Given the description of an element on the screen output the (x, y) to click on. 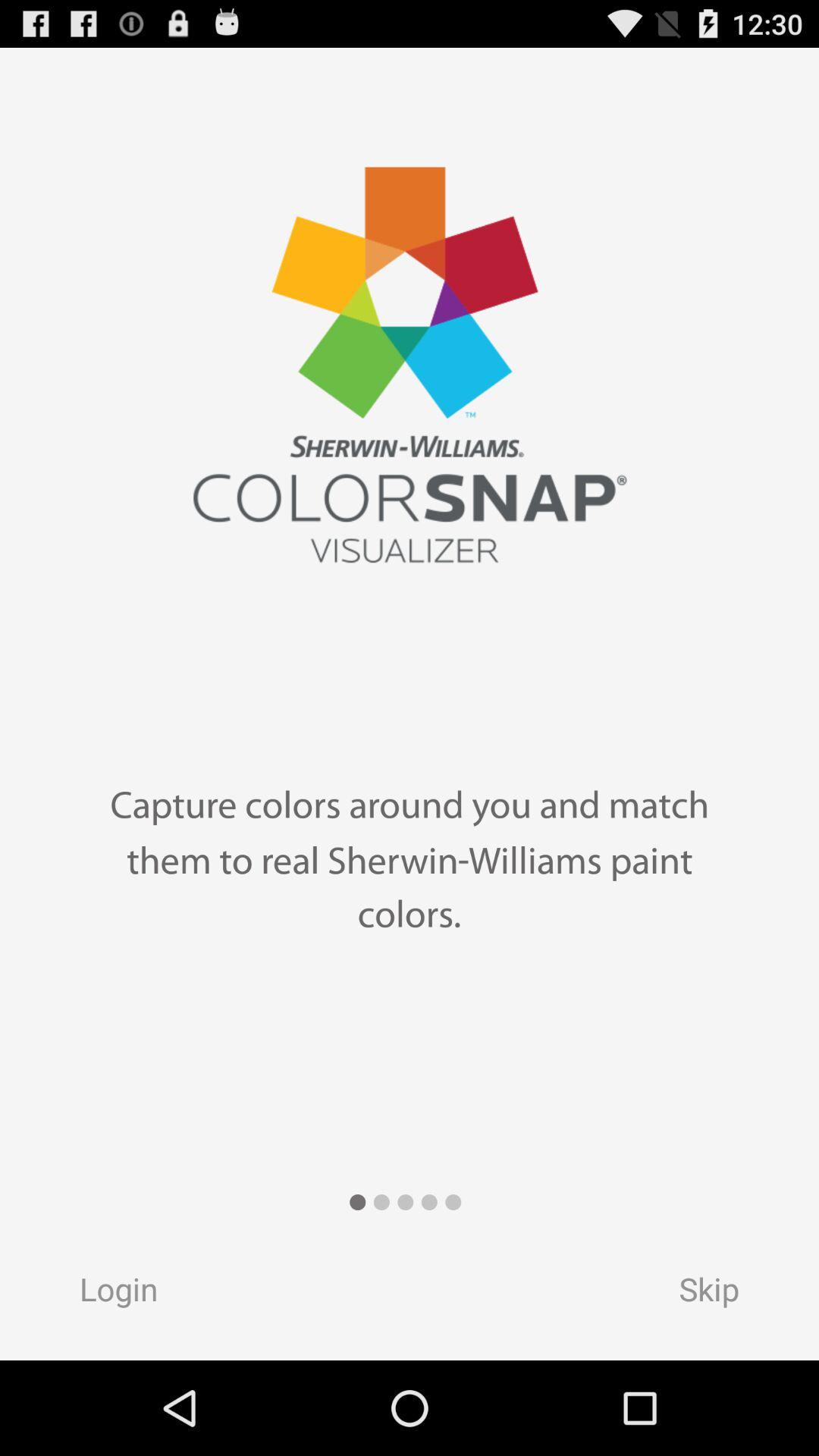
launch the button to the right of the login item (724, 1293)
